Given the description of an element on the screen output the (x, y) to click on. 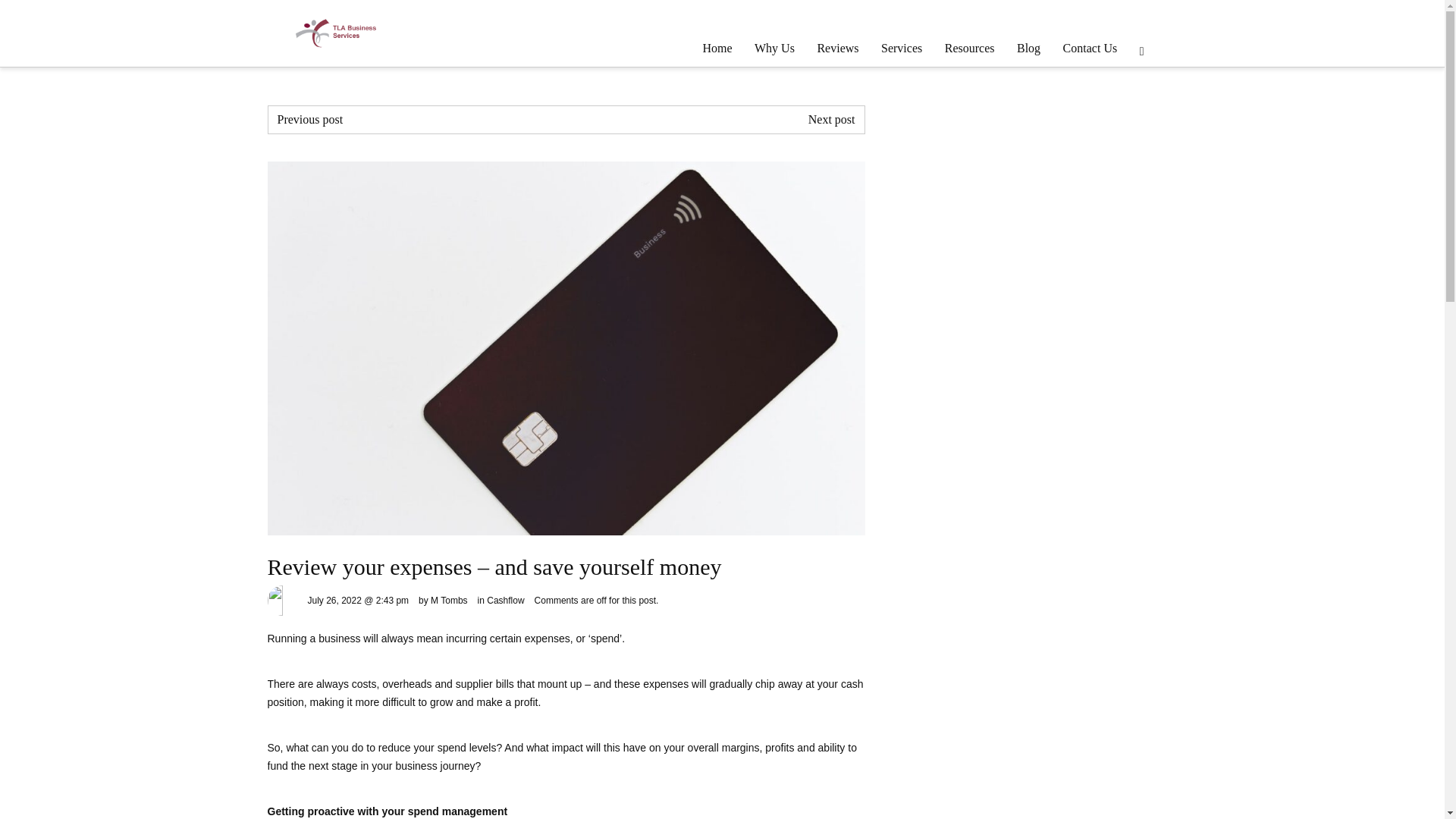
Next post (832, 119)
Cashflow (505, 599)
Improve your debtor days to boost your cashflow (832, 119)
The Golden Circle (310, 119)
Previous post (310, 119)
